Given the description of an element on the screen output the (x, y) to click on. 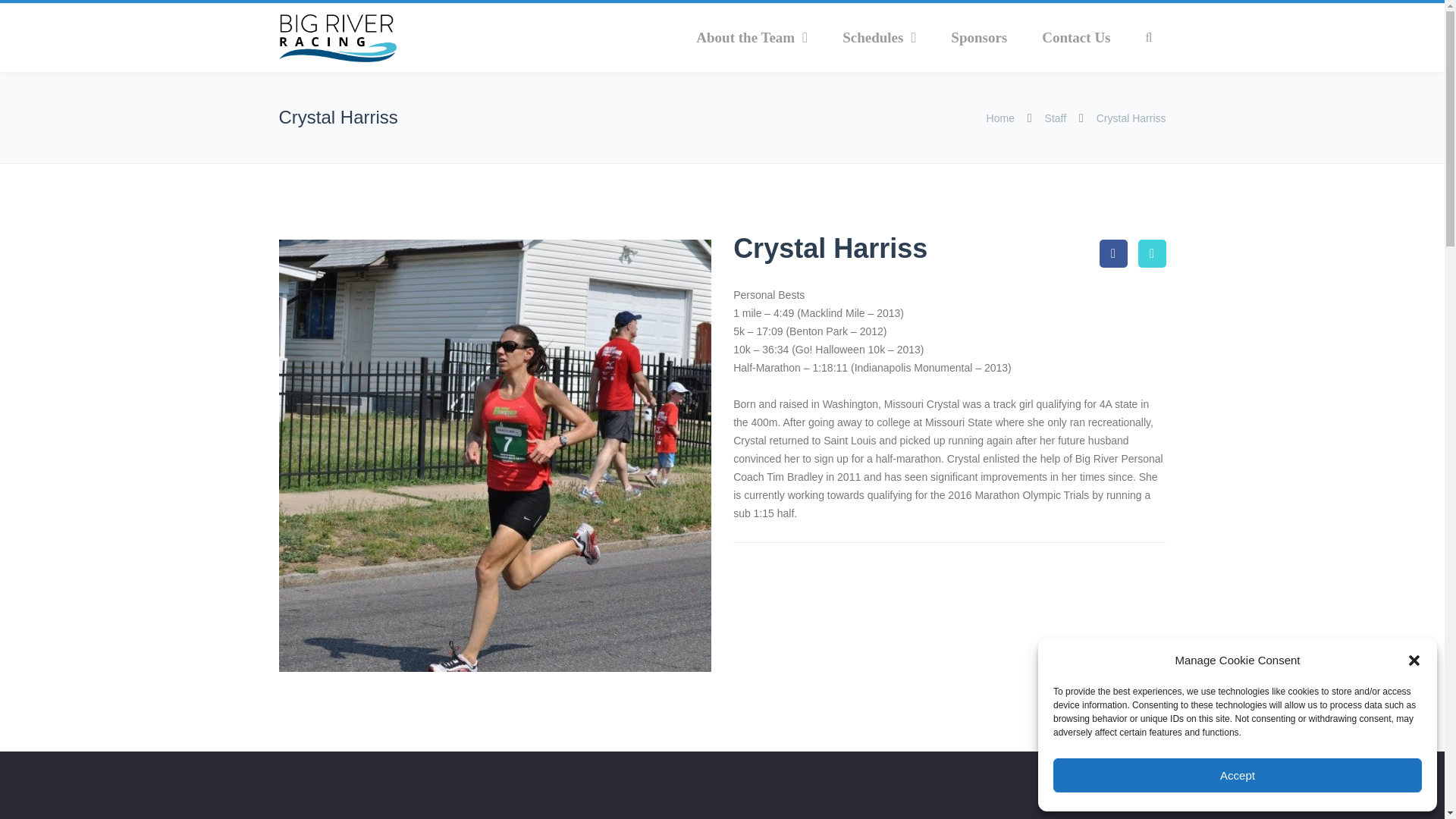
Contact Us (1075, 38)
Sponsors (979, 38)
Home (1002, 118)
About the Team (751, 38)
Schedules (879, 38)
Staff (1055, 118)
Big River Racing Team (337, 38)
Accept (1237, 775)
